Given the description of an element on the screen output the (x, y) to click on. 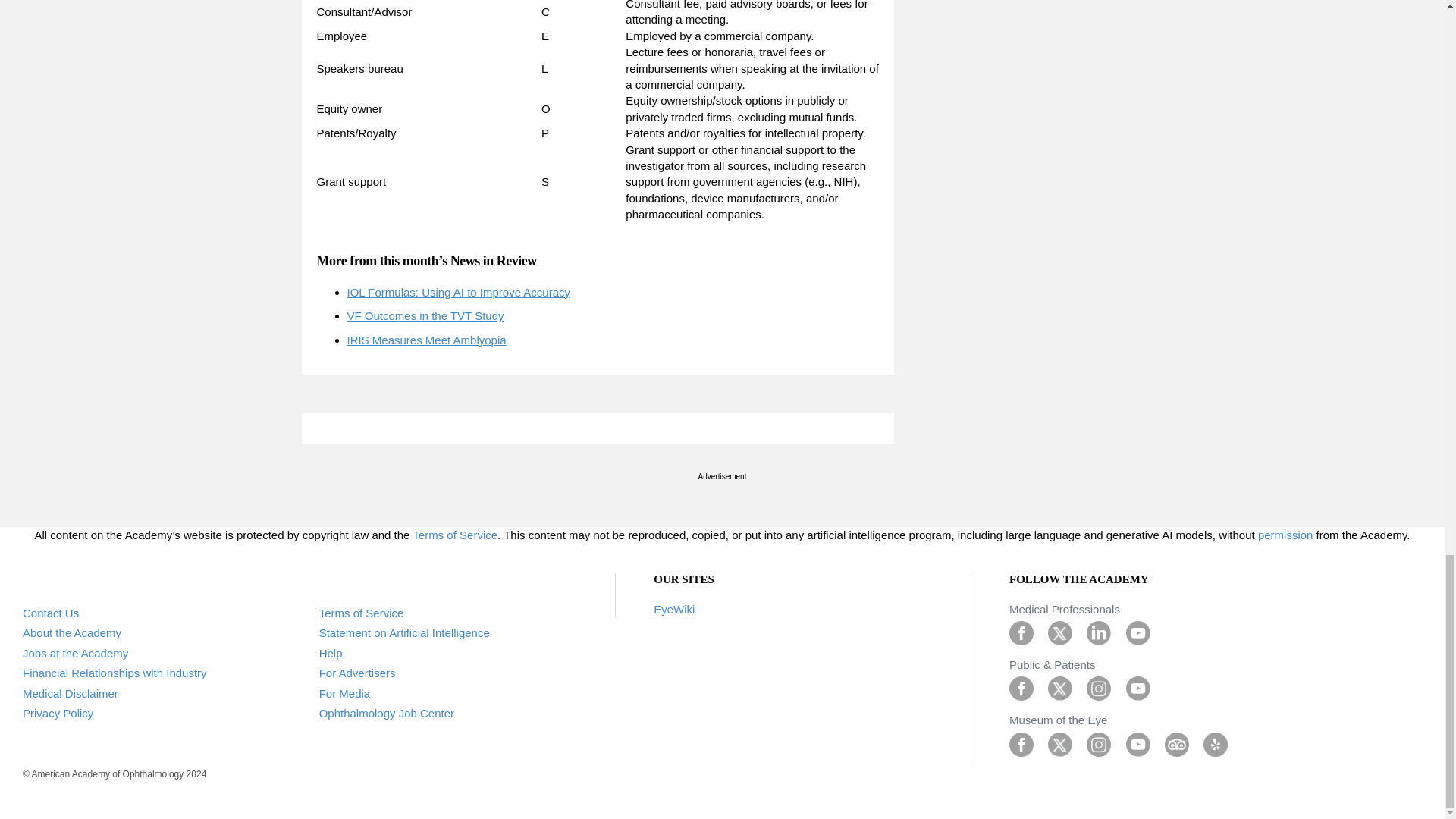
LinkedIn (1098, 631)
YouTube (1137, 631)
Facebook (1021, 686)
Instagram (1098, 743)
YouTube (1137, 743)
Twitter (1059, 686)
Instagram (1098, 686)
Twitter (1059, 743)
Facebook (1021, 631)
Twitter (1059, 631)
Yelp (1215, 743)
YouTube (1137, 686)
Trip Advisor (1176, 743)
Facebook (1021, 743)
